Given the description of an element on the screen output the (x, y) to click on. 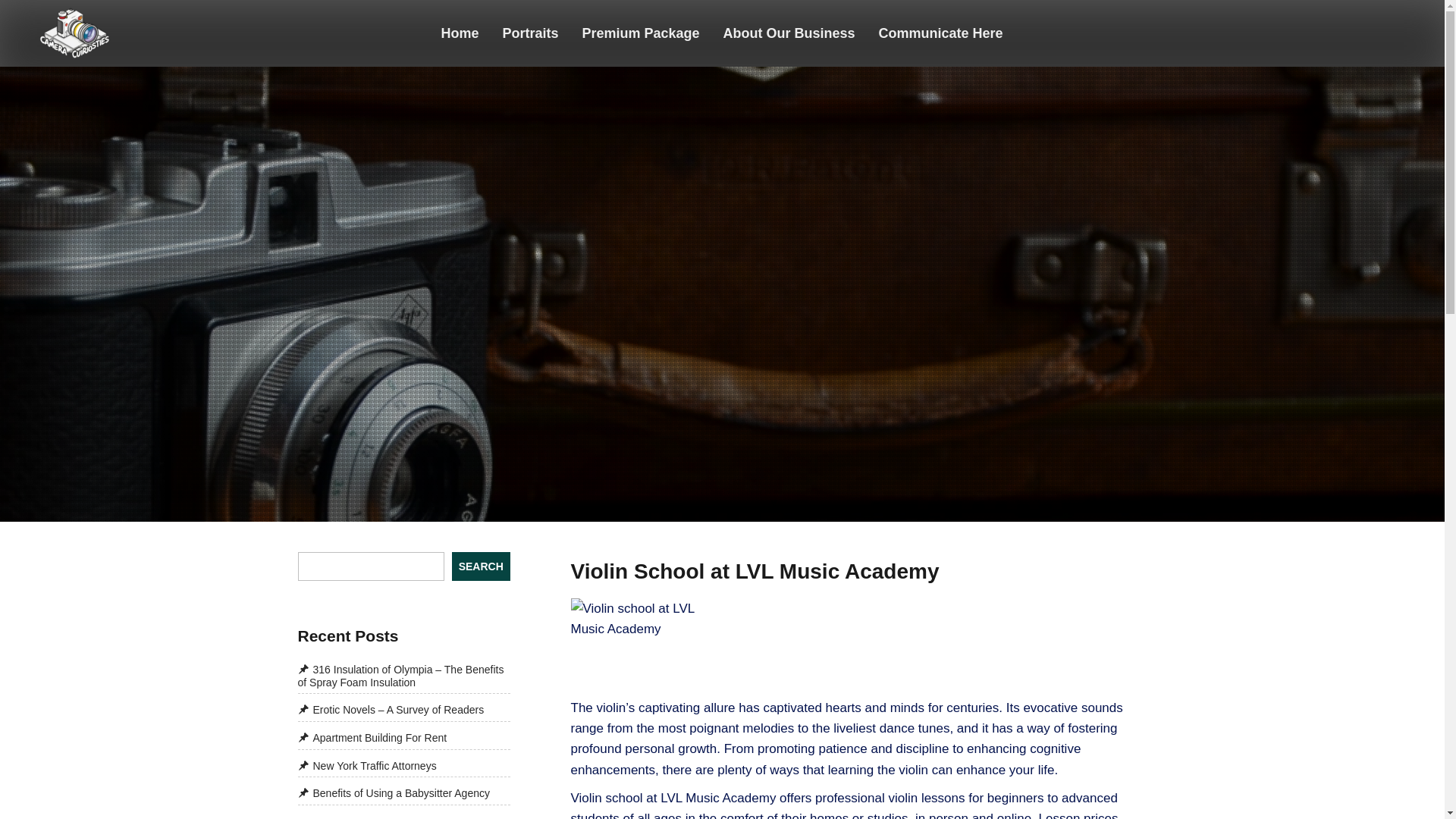
About Our Business (789, 32)
New York Traffic Attorneys (366, 766)
Communicate Here (940, 32)
Benefits of Using a Babysitter Agency (393, 793)
Home (459, 32)
Apartment Building For Rent (371, 737)
Portraits (530, 32)
SEARCH (481, 566)
Premium Package (640, 32)
